Given the description of an element on the screen output the (x, y) to click on. 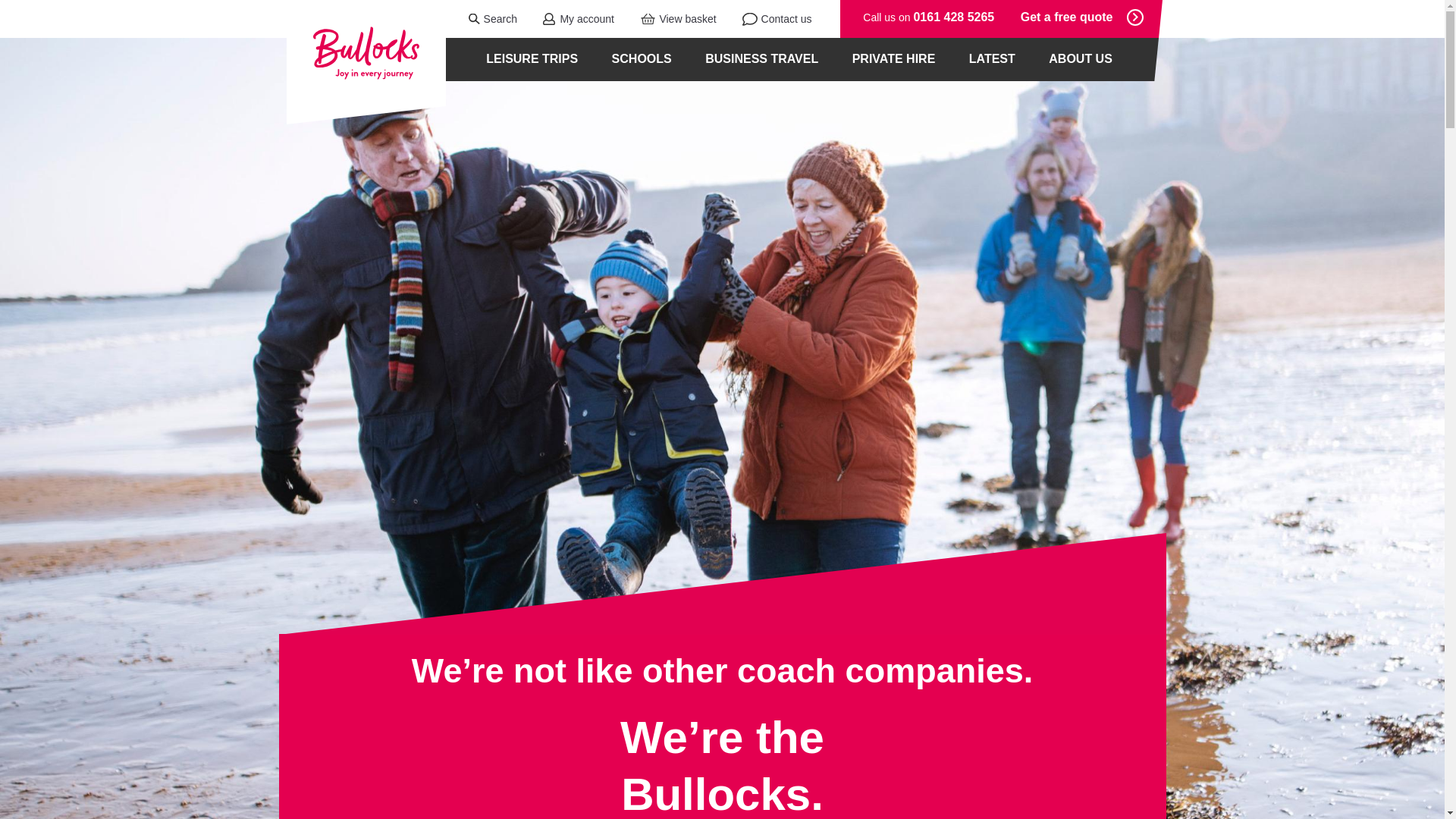
Latest (991, 59)
0161 428 5265 (953, 17)
PRIVATE HIRE (893, 59)
SCHOOLS (641, 59)
LEISURE TRIPS (531, 59)
BUSINESS TRAVEL (761, 59)
Search (480, 18)
LATEST (991, 59)
My account (566, 18)
ABOUT US (1079, 59)
Get a free quote (1085, 17)
Contact us (764, 18)
View basket (666, 18)
